Given the description of an element on the screen output the (x, y) to click on. 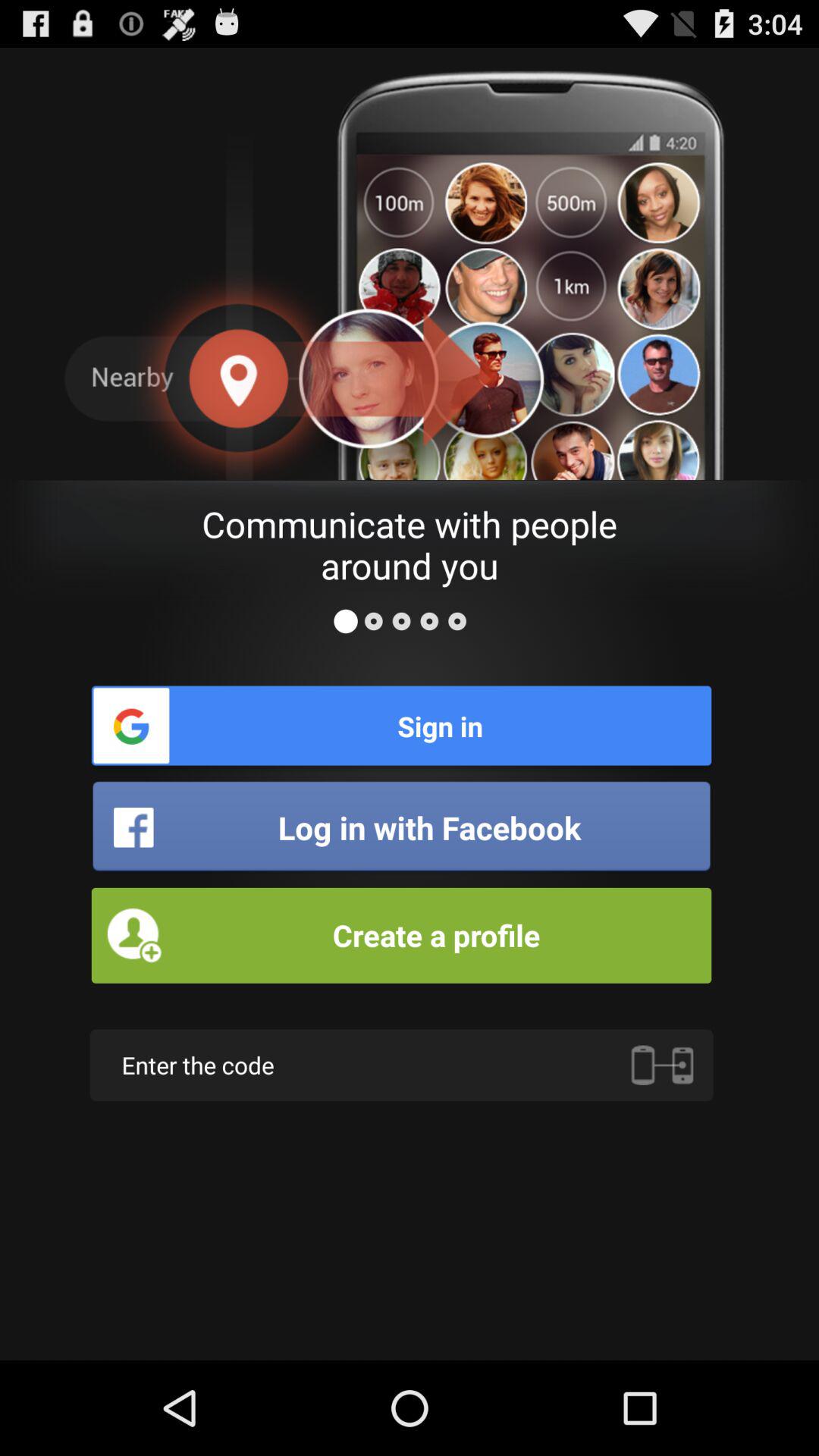
select item above enter the code icon (401, 935)
